Given the description of an element on the screen output the (x, y) to click on. 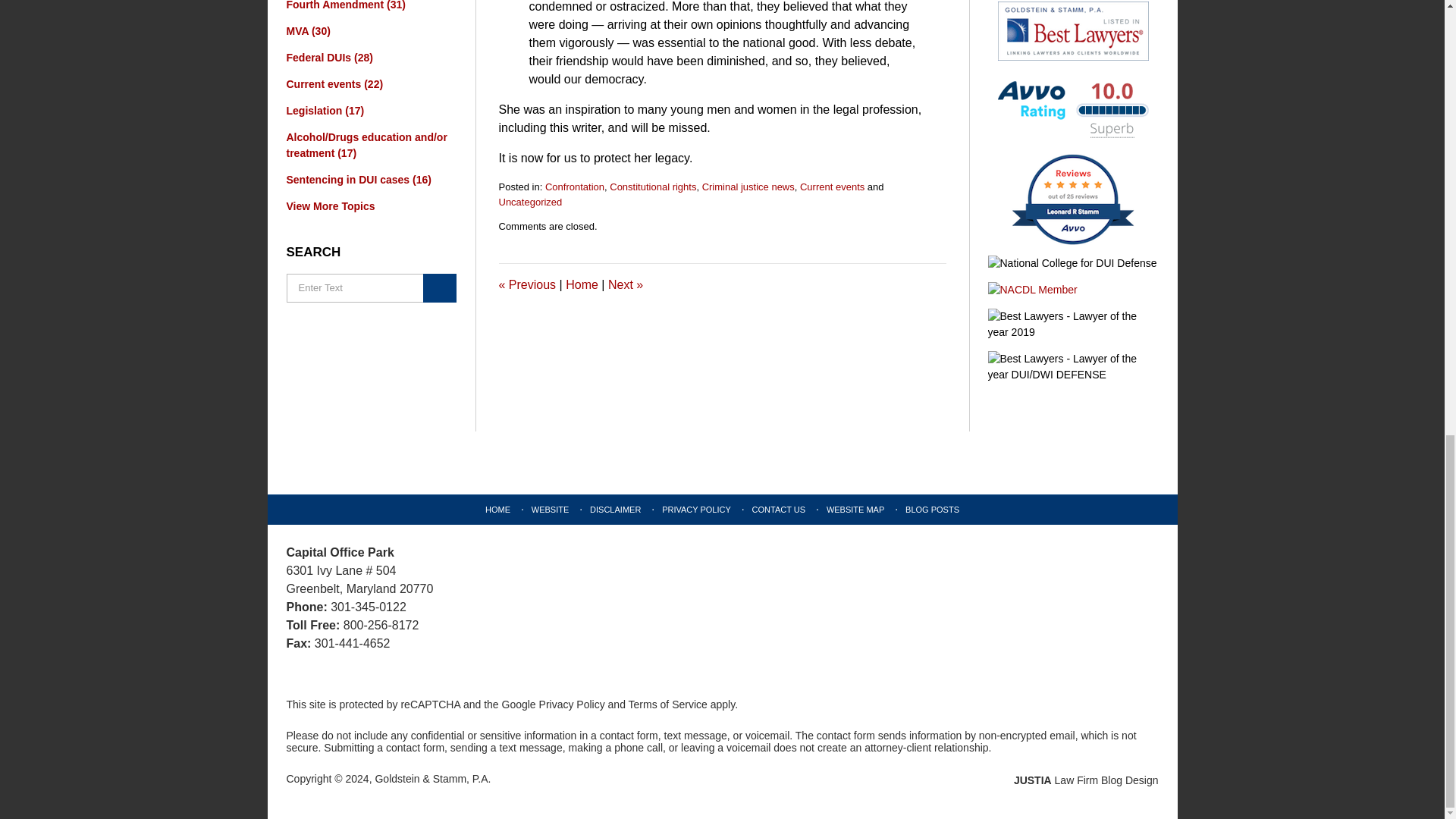
Current events (831, 186)
Home (582, 284)
Constitutional rights (652, 186)
November 11, 2020 Veterans Day (625, 284)
View all posts in Uncategorized (530, 202)
View all posts in Current events (831, 186)
Confrontation (574, 186)
Uncategorized (530, 202)
View all posts in Confrontation (574, 186)
